Given the description of an element on the screen output the (x, y) to click on. 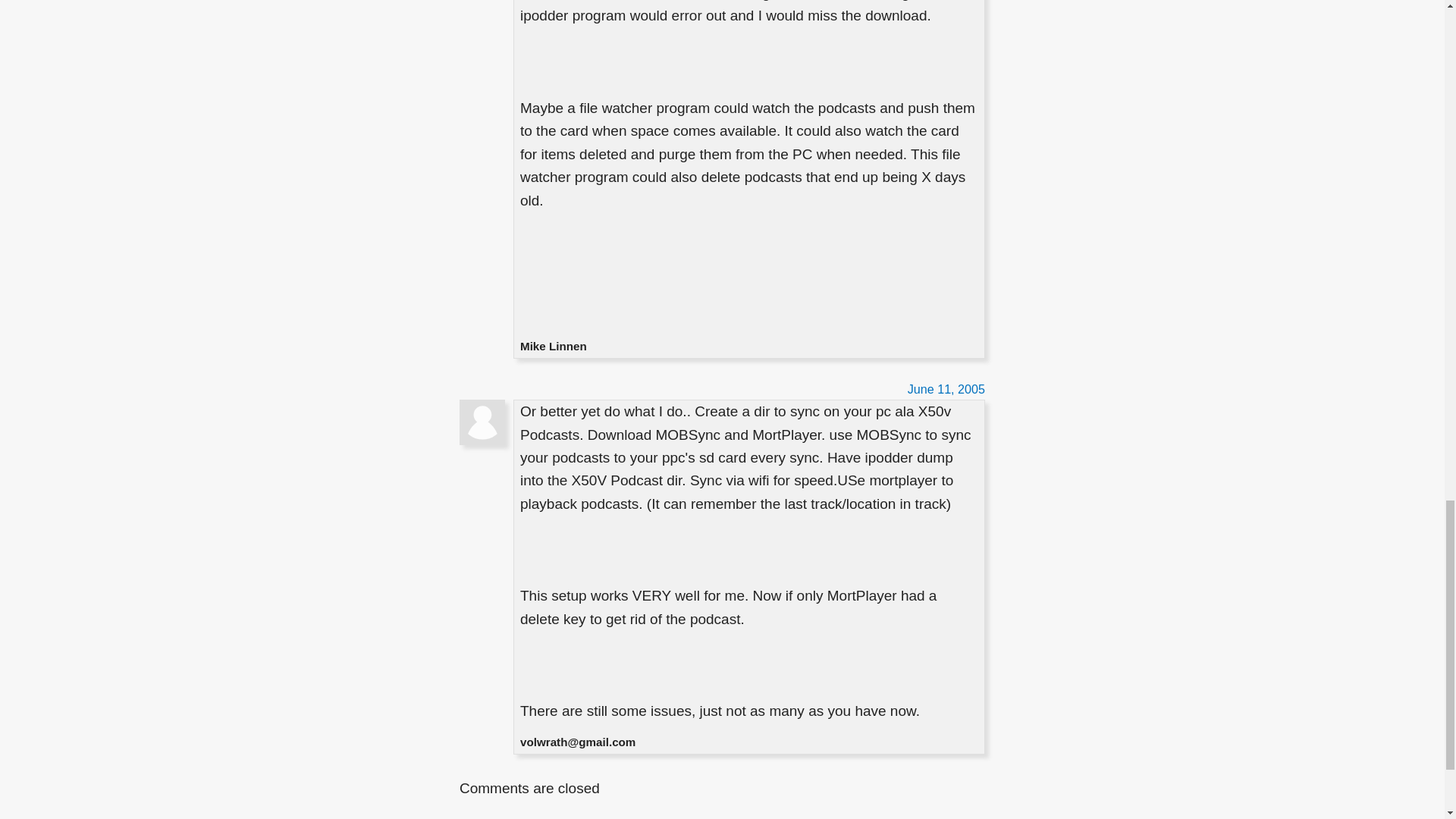
June 11, 2005 (946, 388)
